Given the description of an element on the screen output the (x, y) to click on. 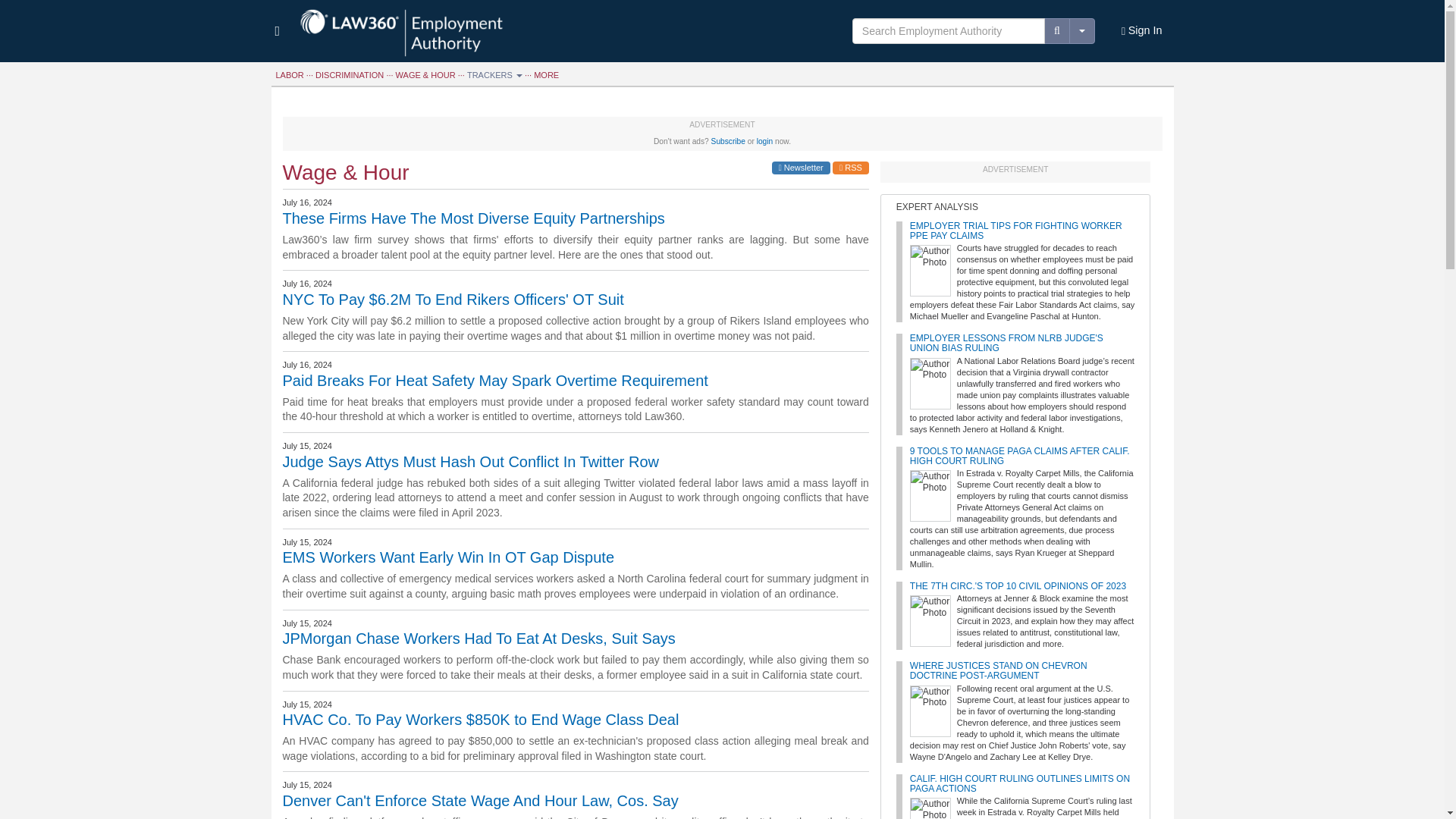
These Firms Have The Most Diverse Equity Partnerships (574, 217)
2024-07-16 (306, 202)
LABOR (290, 74)
GO (13, 7)
Search Button (1056, 31)
2024-07-15 (306, 445)
  Sign In (1141, 31)
2024-07-16 (306, 364)
Toggle Dropdown (1081, 31)
Paid Breaks For Heat Safety May Spark Overtime Requirement (574, 380)
Judge Says Attys Must Hash Out Conflict In Twitter Row (574, 461)
DISCRIMINATION (349, 74)
2024-07-16 (306, 283)
